Given the description of an element on the screen output the (x, y) to click on. 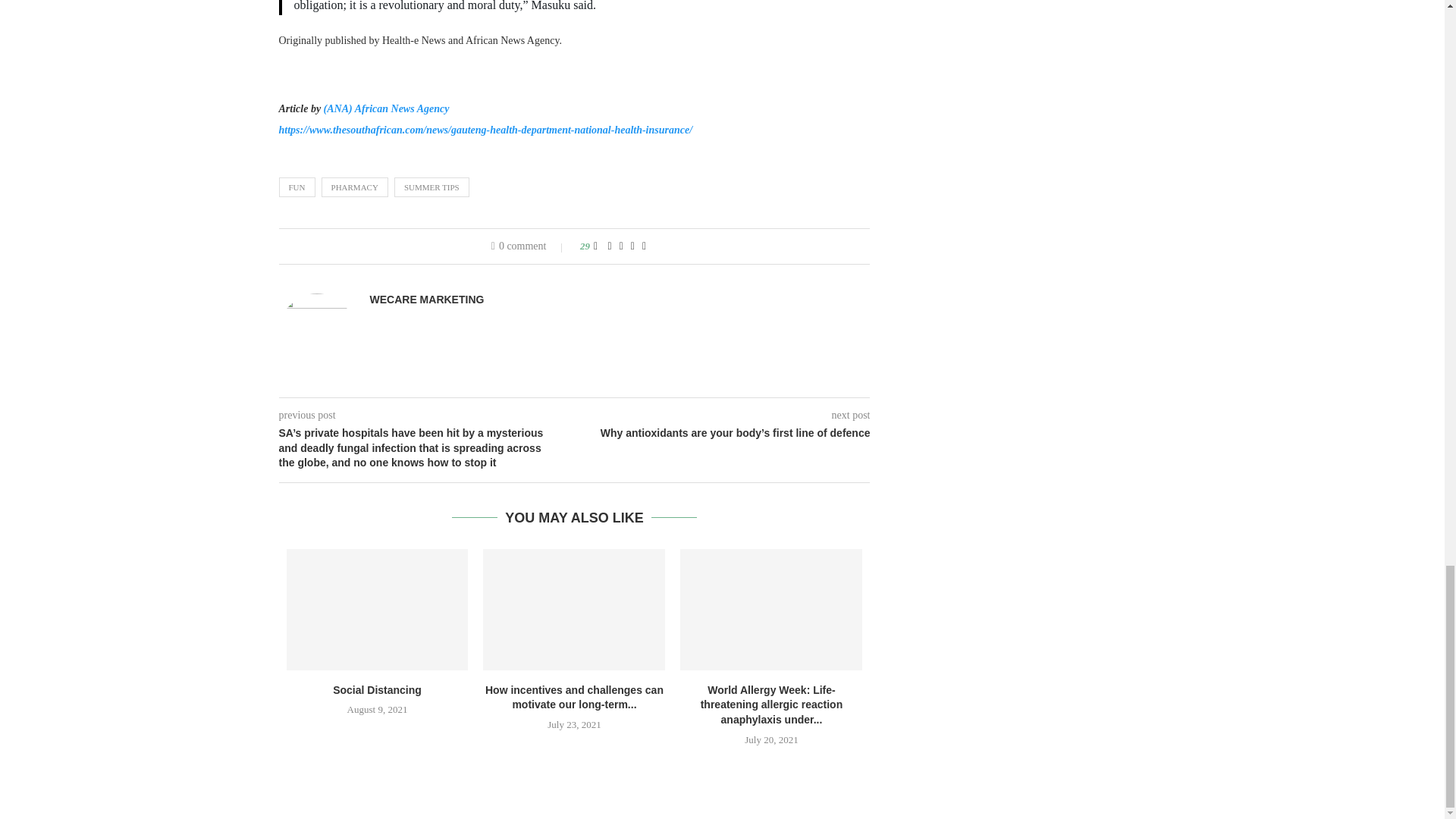
Social Distancing (377, 609)
Author WeCare Marketing (426, 299)
